Given the description of an element on the screen output the (x, y) to click on. 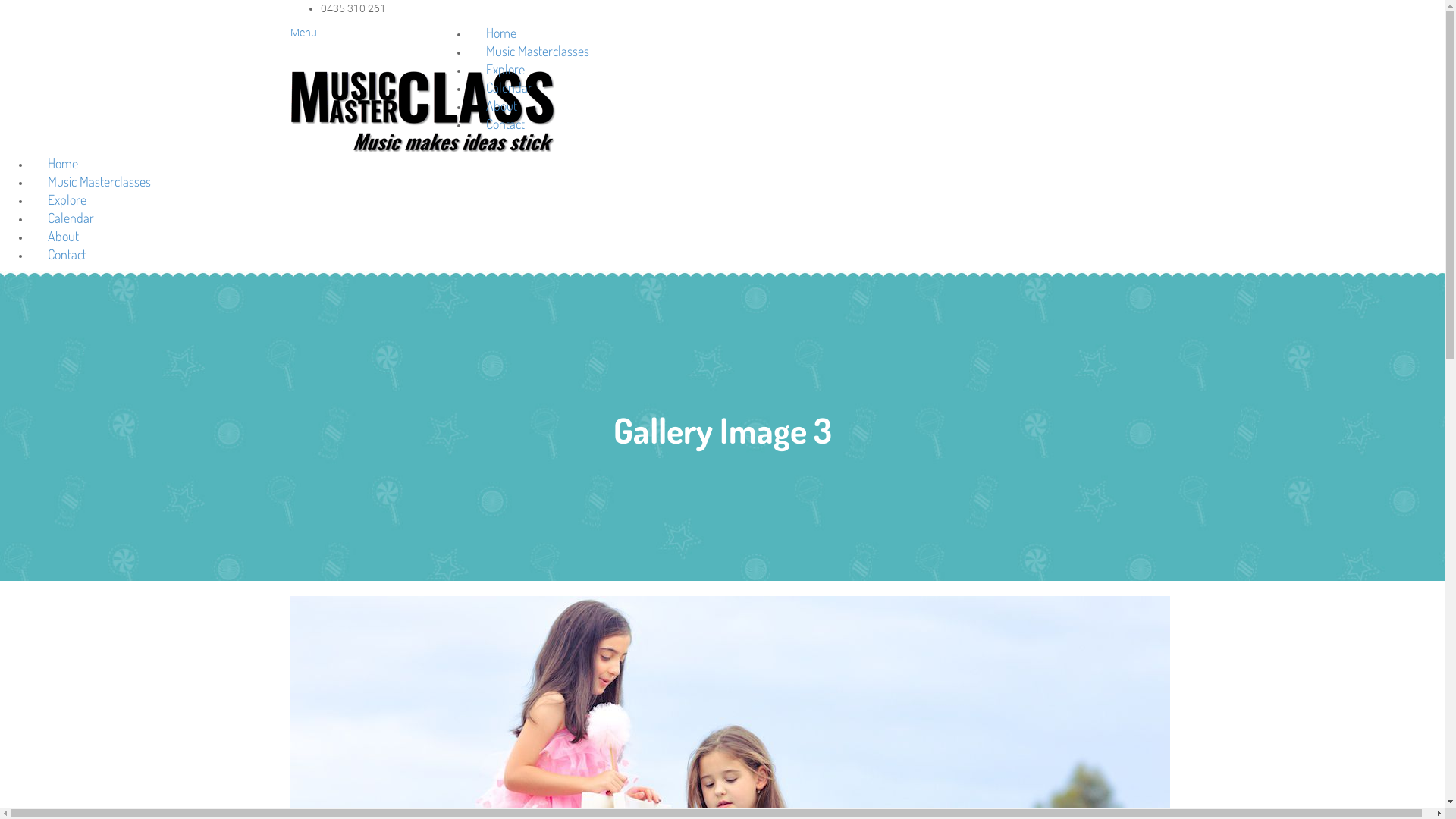
Calendar Element type: text (508, 86)
About Element type: text (501, 105)
Explore Element type: text (66, 199)
Music Masterclasses Element type: text (99, 180)
Menu Element type: text (302, 32)
Home Element type: text (500, 32)
Explore Element type: text (505, 68)
Contact Element type: text (66, 253)
Music Masterclasses Element type: text (537, 50)
About Element type: text (63, 235)
Contact Element type: text (505, 123)
Calendar Element type: text (70, 217)
Home Element type: text (62, 162)
